Given the description of an element on the screen output the (x, y) to click on. 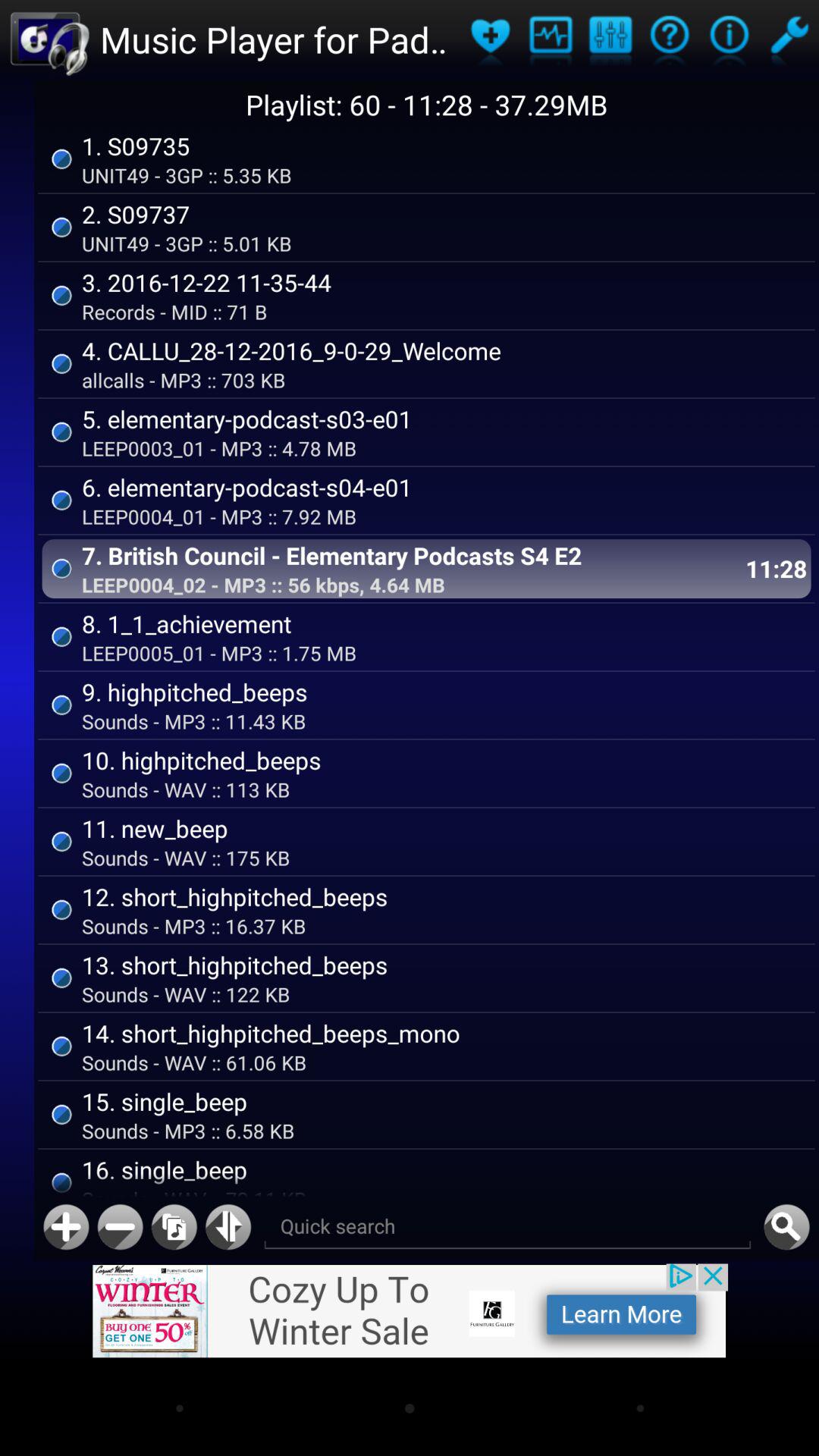
go to music (174, 1226)
